Given the description of an element on the screen output the (x, y) to click on. 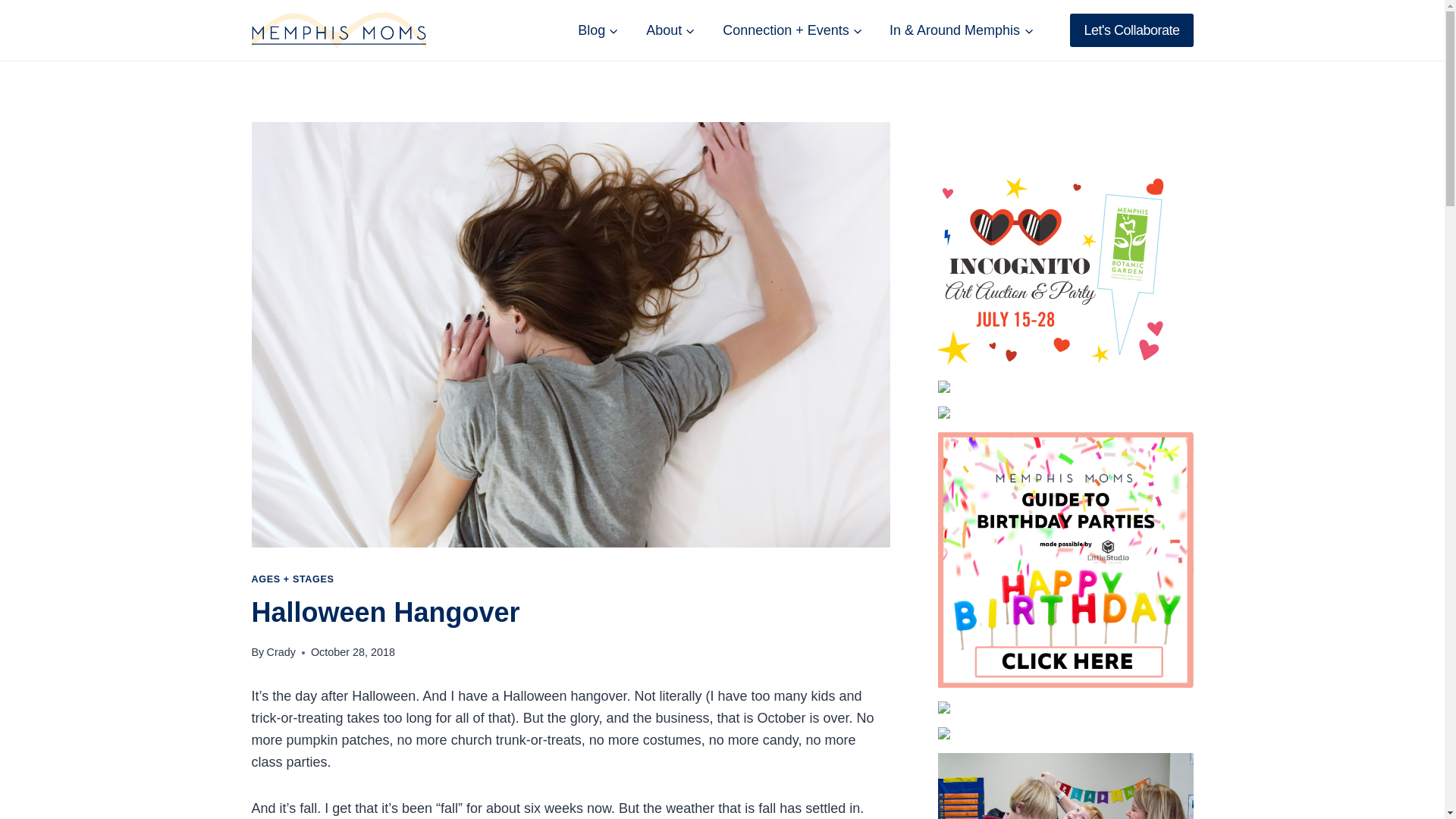
Blog (597, 30)
